Given the description of an element on the screen output the (x, y) to click on. 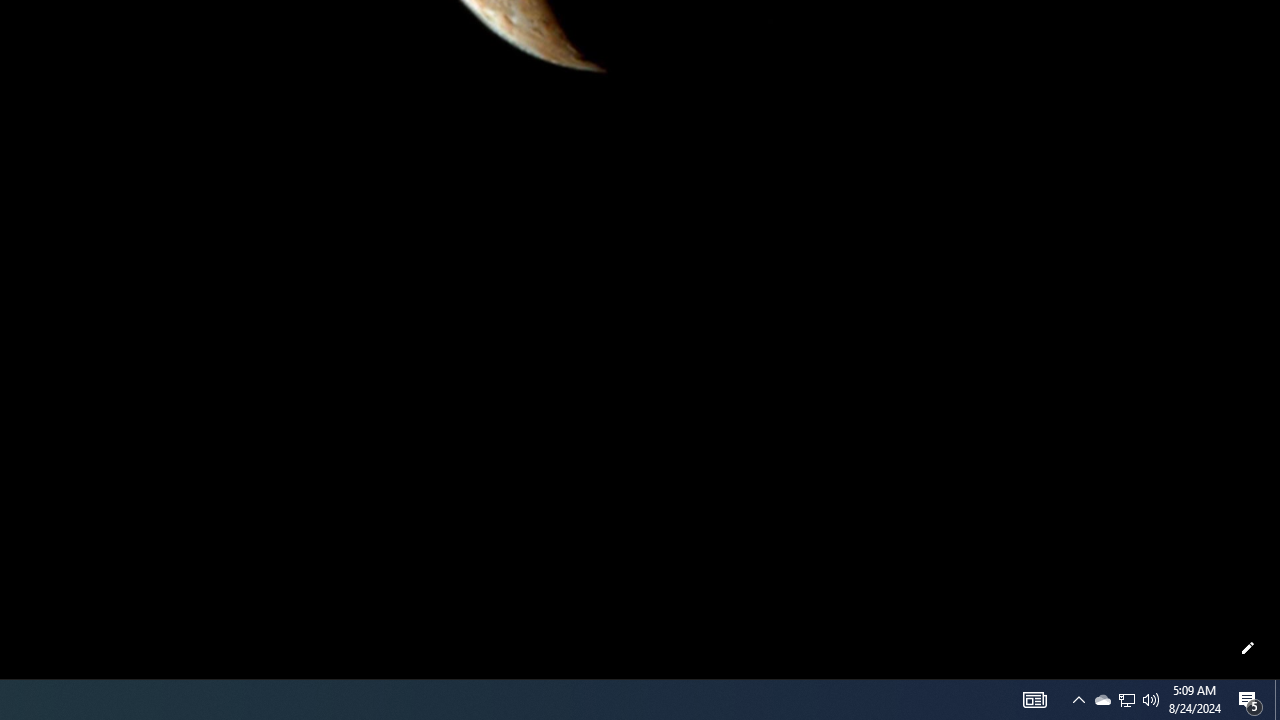
Customize this page (1247, 647)
